Given the description of an element on the screen output the (x, y) to click on. 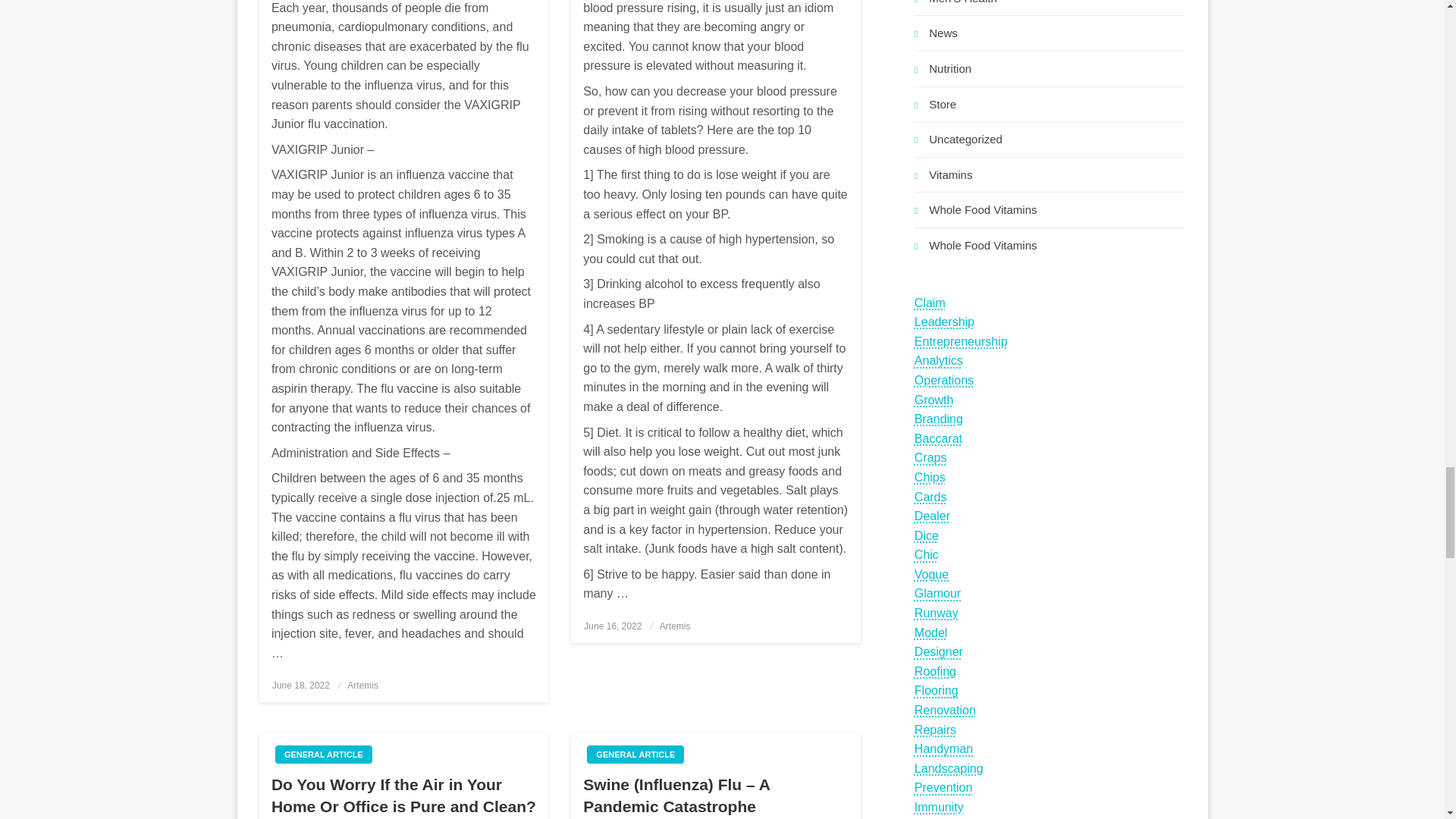
Artemis (362, 685)
Artemis (674, 625)
